Given the description of an element on the screen output the (x, y) to click on. 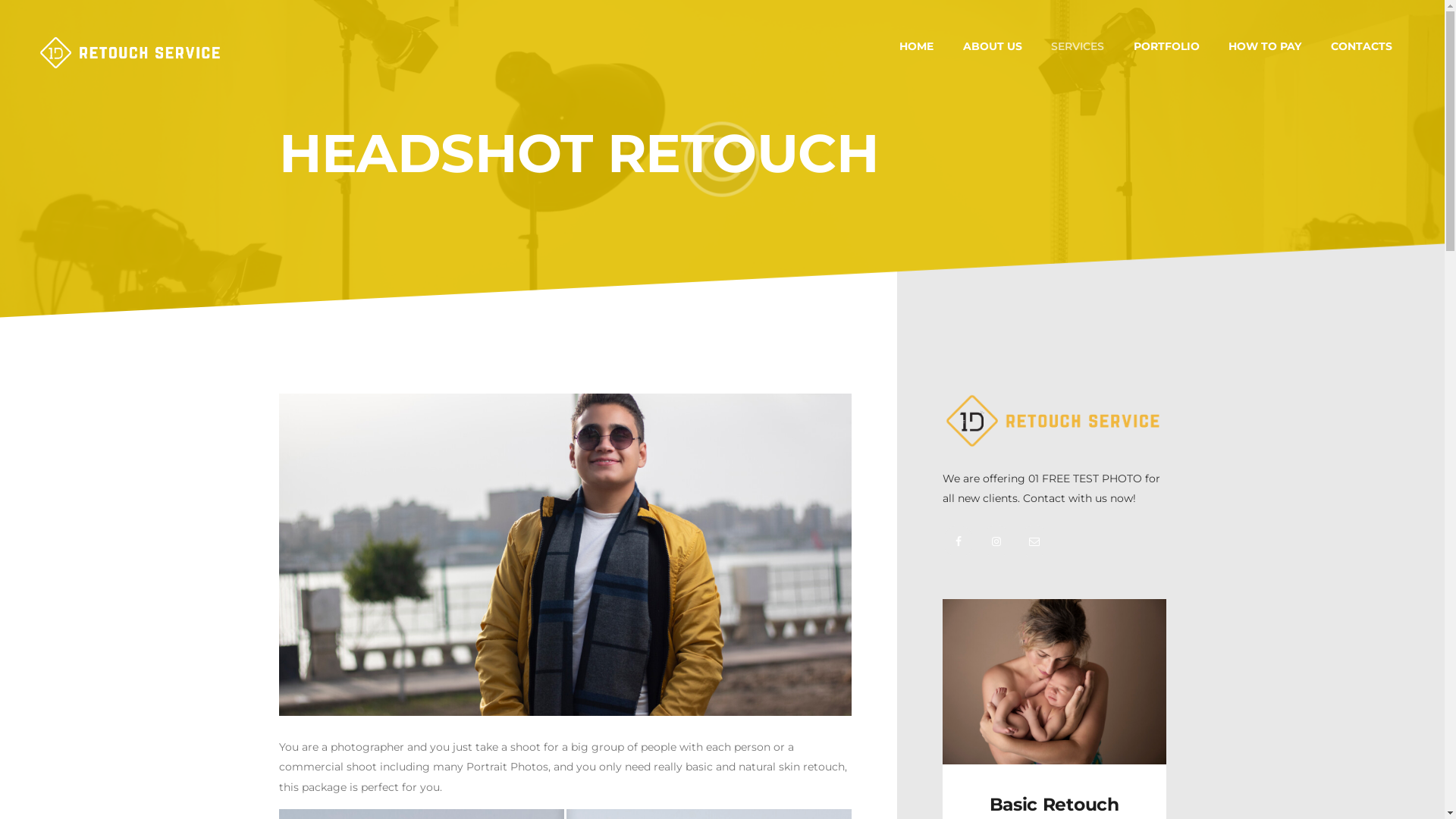
HOW TO PAY Element type: text (1265, 46)
ABOUT US Element type: text (991, 46)
Basic Retouch Element type: text (1054, 804)
SERVICES Element type: text (1077, 46)
PORTFOLIO Element type: text (1166, 46)
HOME Element type: text (916, 46)
CONTACTS Element type: text (1361, 46)
